Given the description of an element on the screen output the (x, y) to click on. 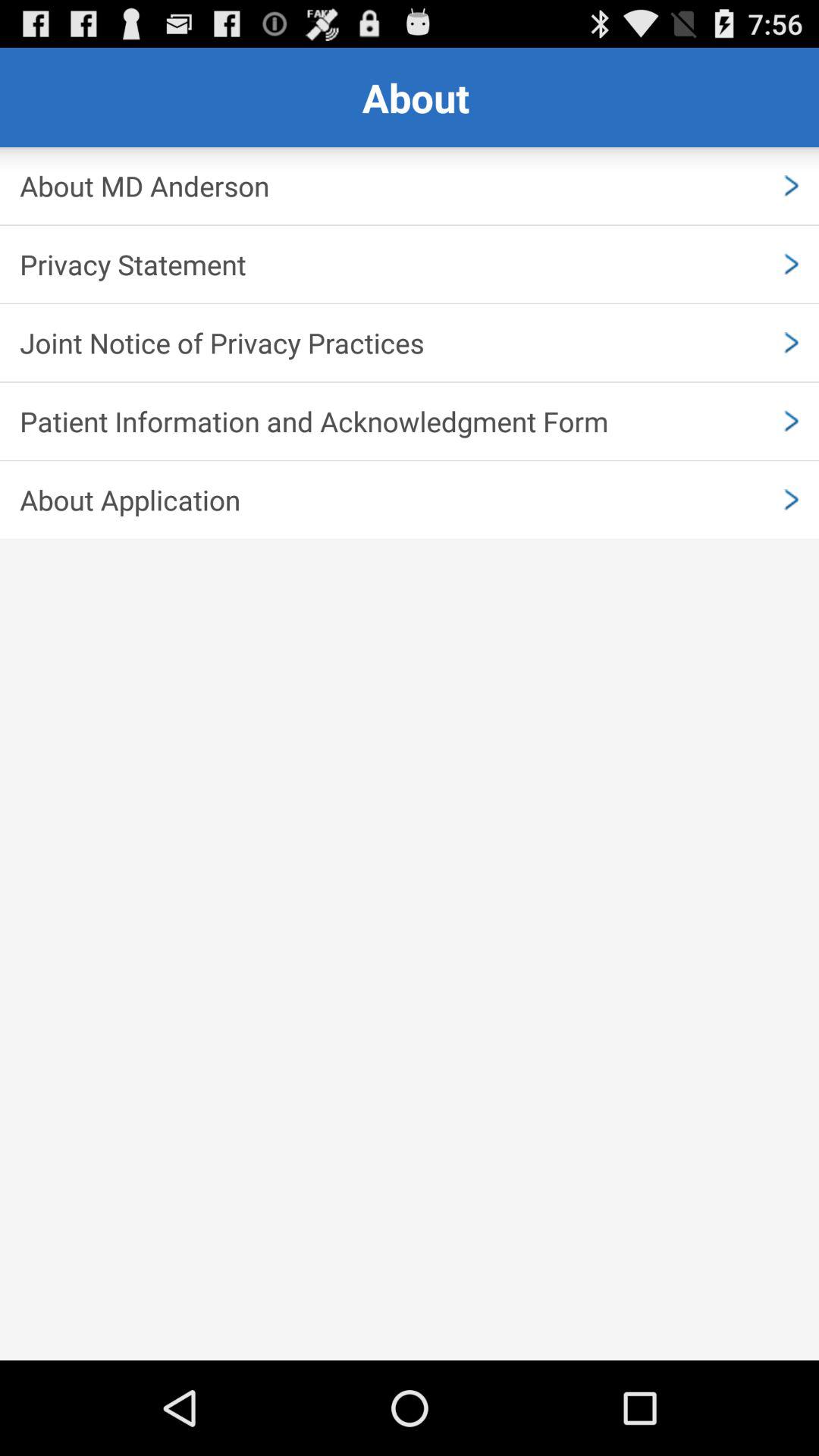
choose app above about application item (409, 421)
